Given the description of an element on the screen output the (x, y) to click on. 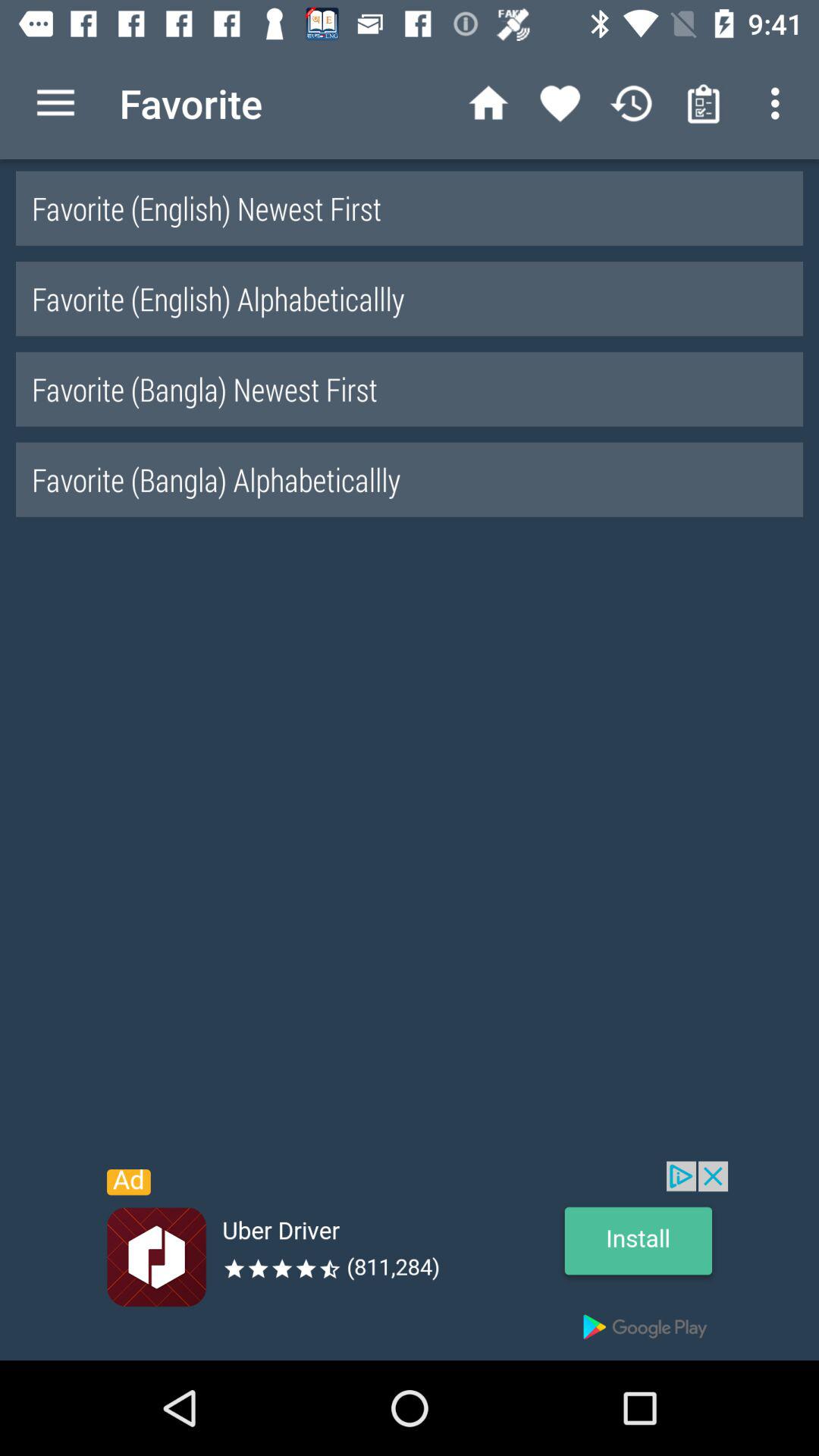
click advertisement (409, 1260)
